Given the description of an element on the screen output the (x, y) to click on. 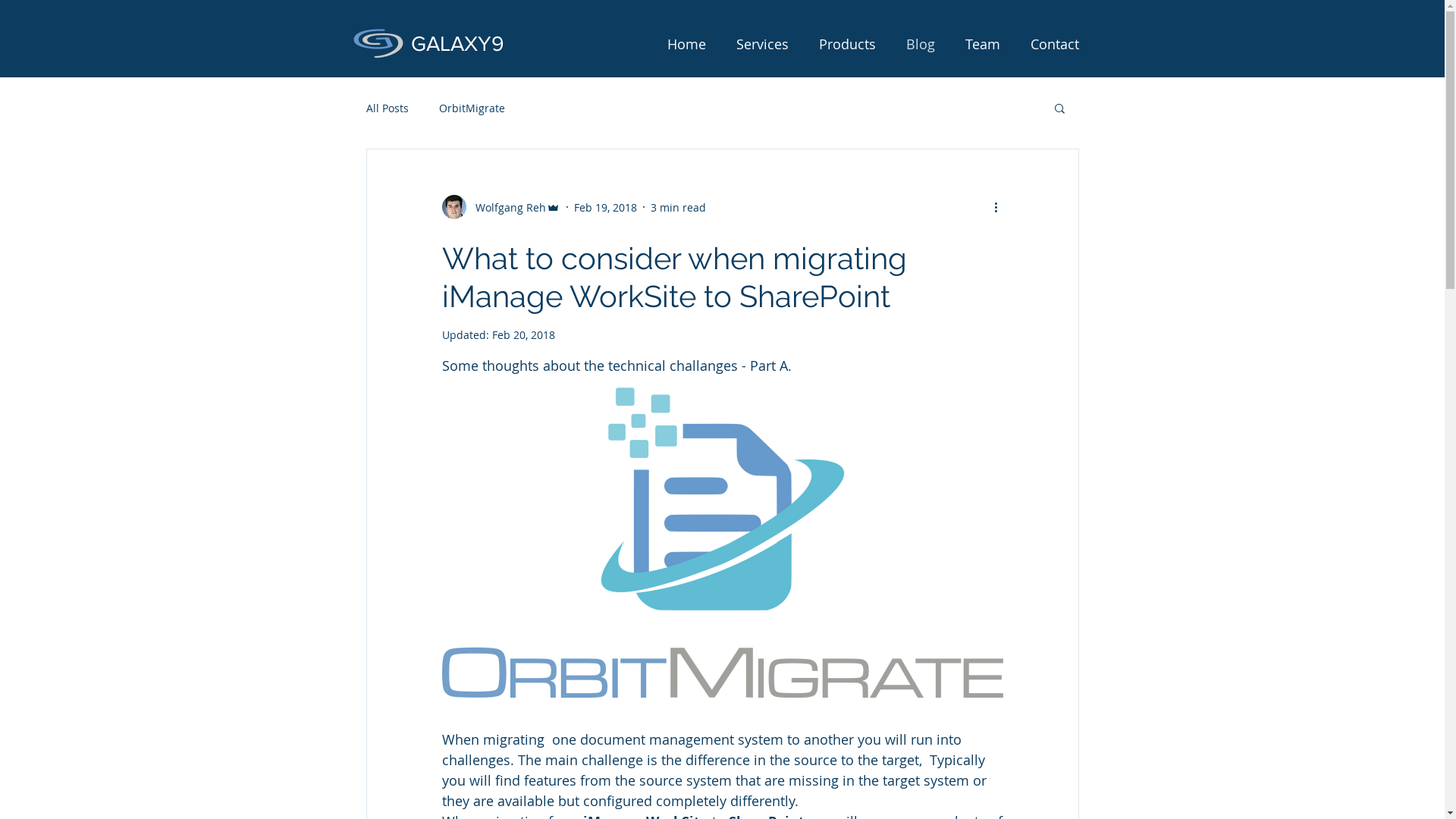
Home Element type: text (686, 43)
Wolfgang Reh Element type: text (500, 206)
Blog Element type: text (919, 43)
OrbitMigrate Element type: text (471, 107)
Contact Element type: text (1053, 43)
GALAXY9 Element type: text (457, 43)
All Posts Element type: text (386, 107)
Services Element type: text (761, 43)
Team Element type: text (981, 43)
Products Element type: text (847, 43)
